Given the description of an element on the screen output the (x, y) to click on. 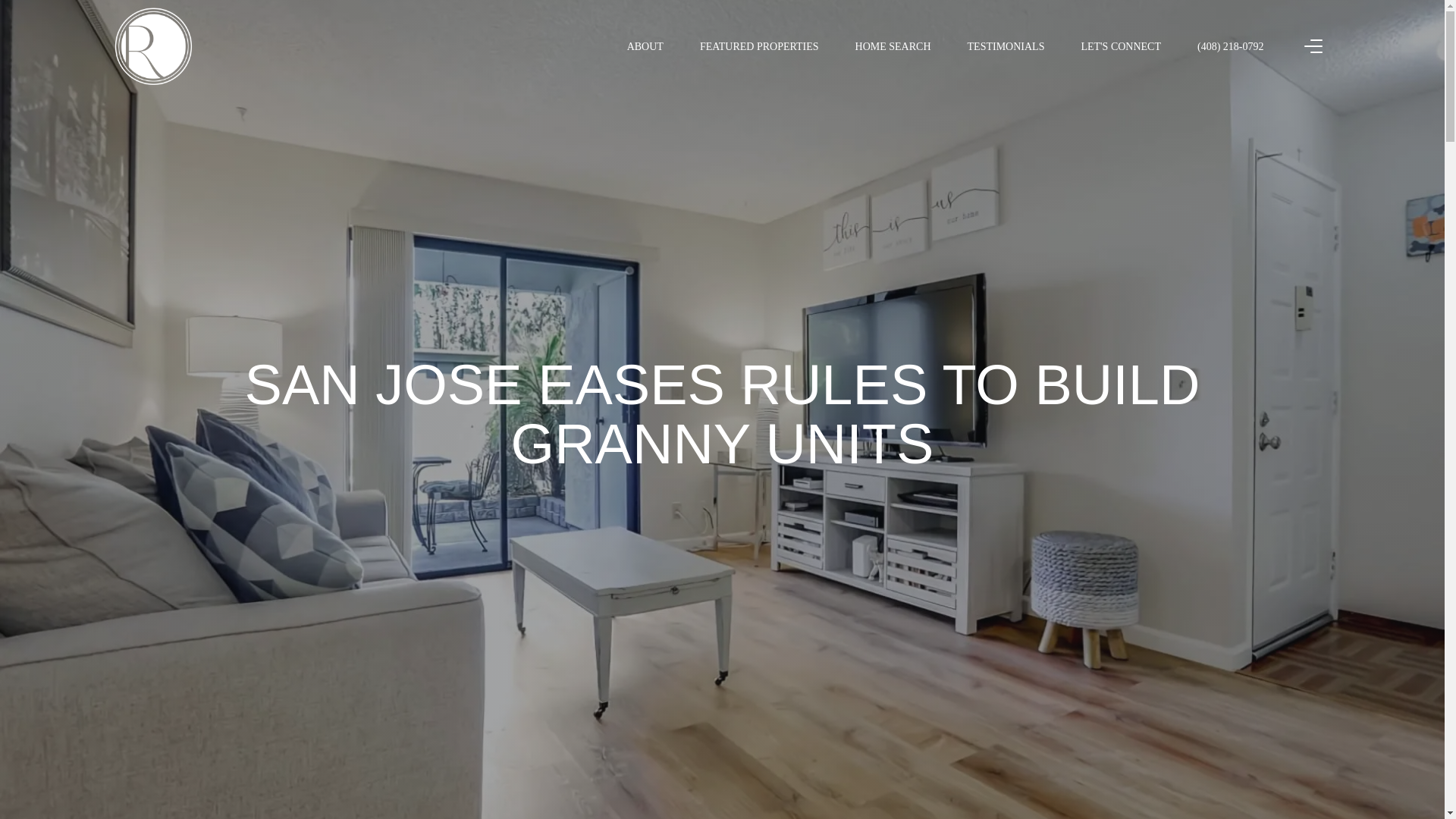
LET'S CONNECT (1120, 46)
TESTIMONIALS (1006, 46)
FEATURED PROPERTIES (759, 46)
HOME SEARCH (893, 46)
ABOUT (645, 46)
